Given the description of an element on the screen output the (x, y) to click on. 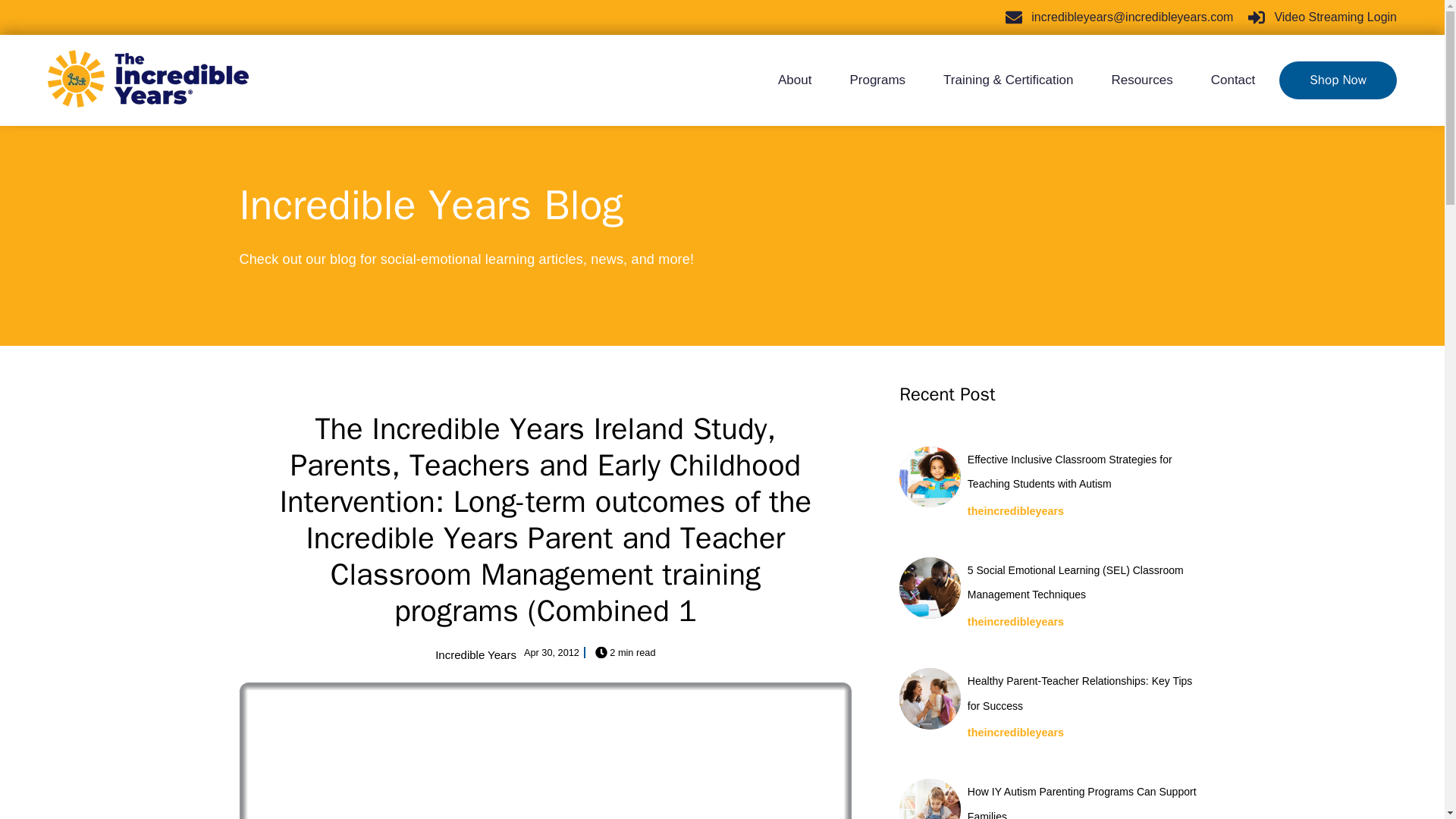
Programs (876, 80)
Contact (1223, 80)
